Given the description of an element on the screen output the (x, y) to click on. 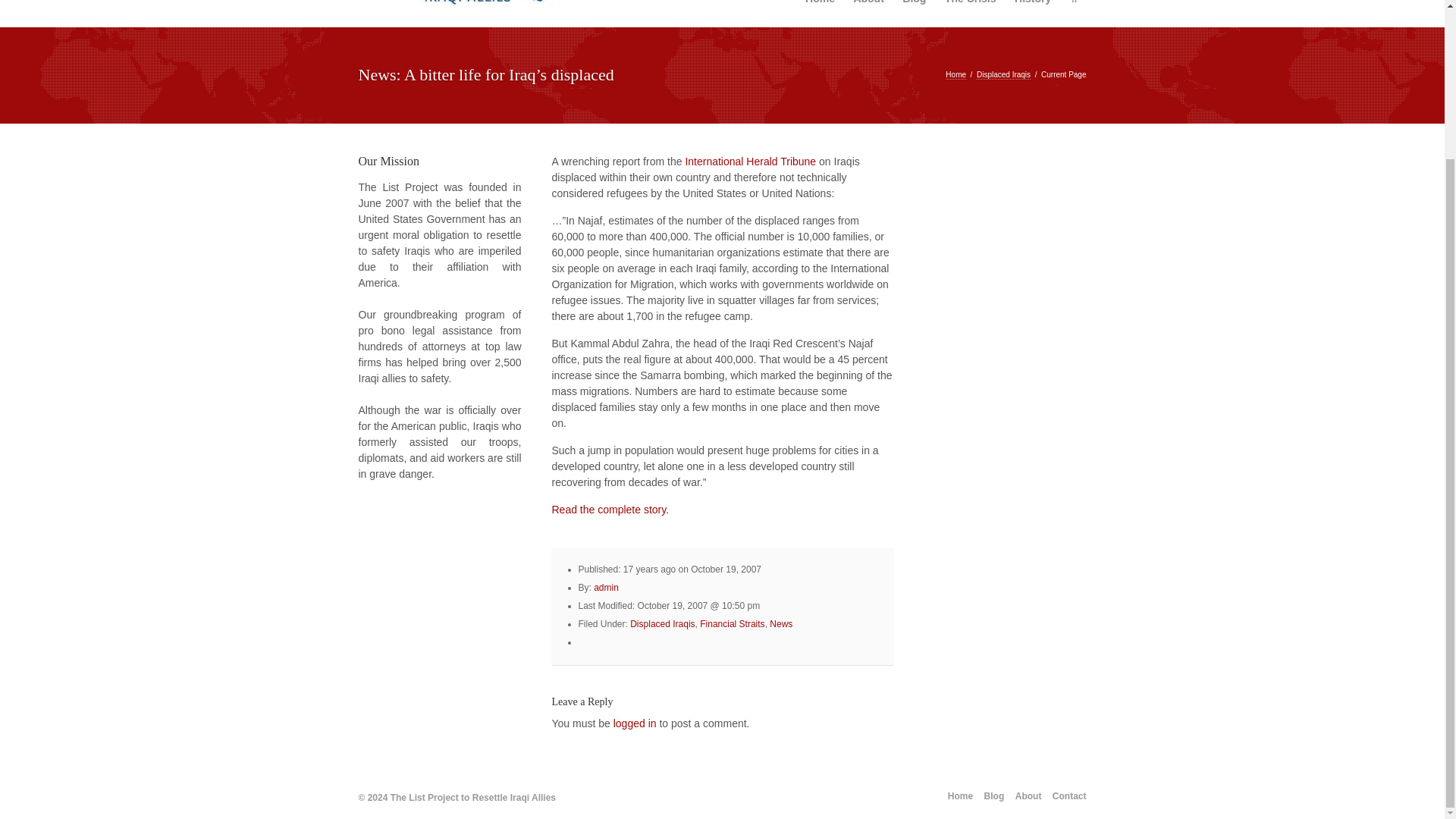
Blog (914, 13)
admin (606, 587)
Displaced Iraqis (1003, 74)
International Herald Tribune (749, 161)
Read the complete story. (610, 509)
History (1032, 13)
Displaced Iraqis (662, 624)
About (868, 13)
Posts by admin (606, 587)
Home (820, 13)
Home (955, 74)
The Crisis (970, 13)
